Given the description of an element on the screen output the (x, y) to click on. 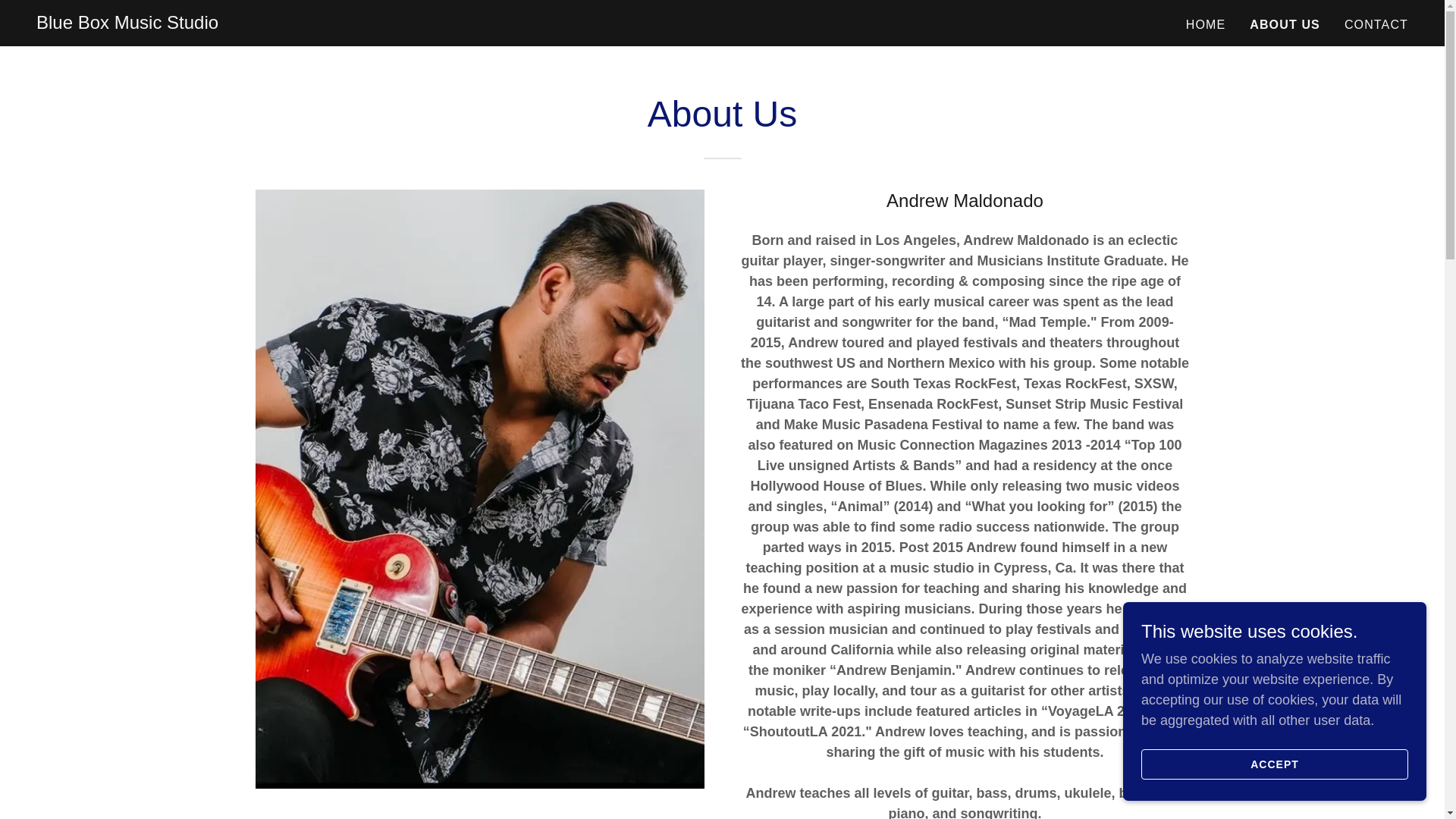
Blue Box Music Studio (127, 23)
Blue Box Music Studio (127, 23)
ABOUT US (1284, 24)
HOME (1205, 24)
ACCEPT (1274, 764)
CONTACT (1375, 24)
